Given the description of an element on the screen output the (x, y) to click on. 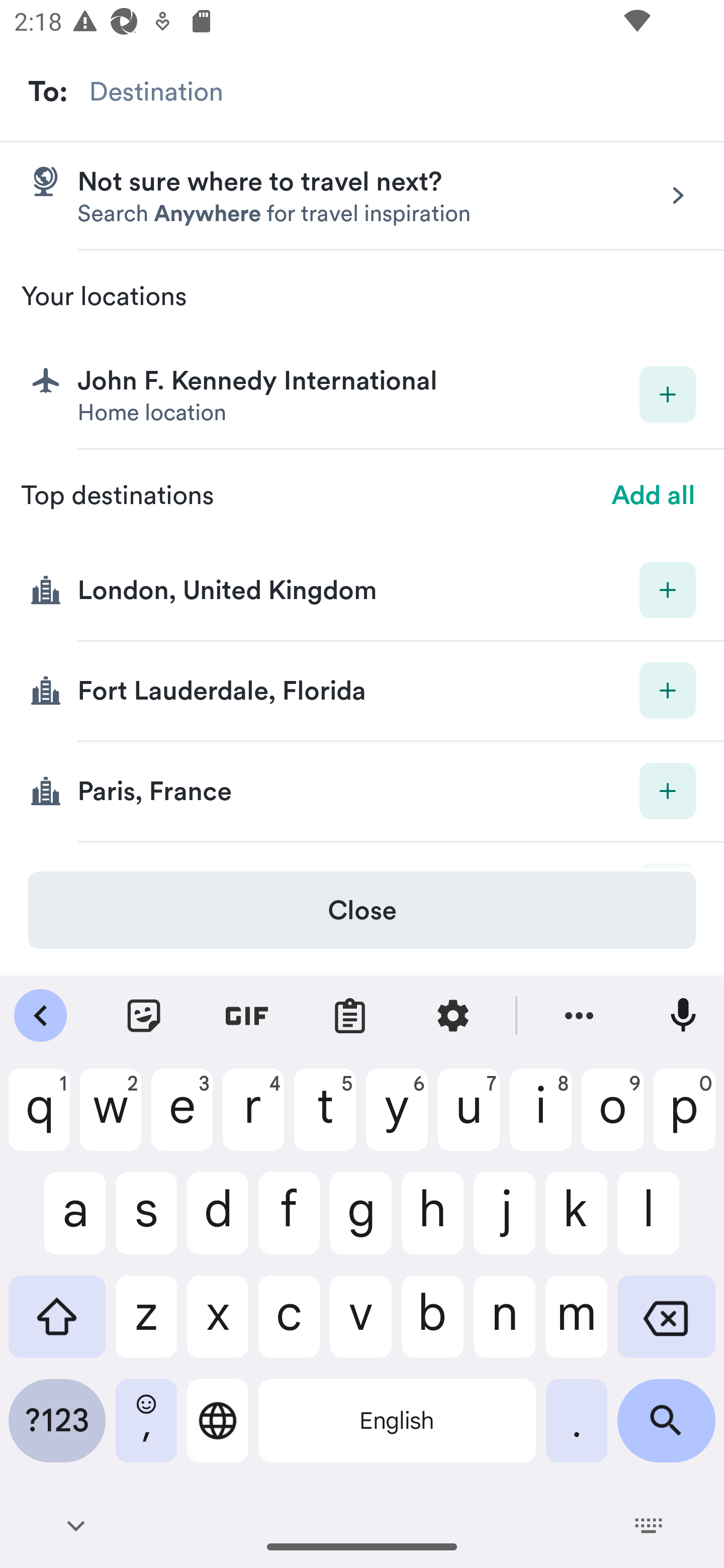
Add destination (667, 394)
Add all (653, 495)
Add destination London, United Kingdom (362, 590)
Add destination (667, 589)
Add destination Fort Lauderdale, Florida (362, 691)
Add destination (667, 689)
Add destination Paris, France (362, 791)
Add destination (667, 790)
Close (361, 909)
